Given the description of an element on the screen output the (x, y) to click on. 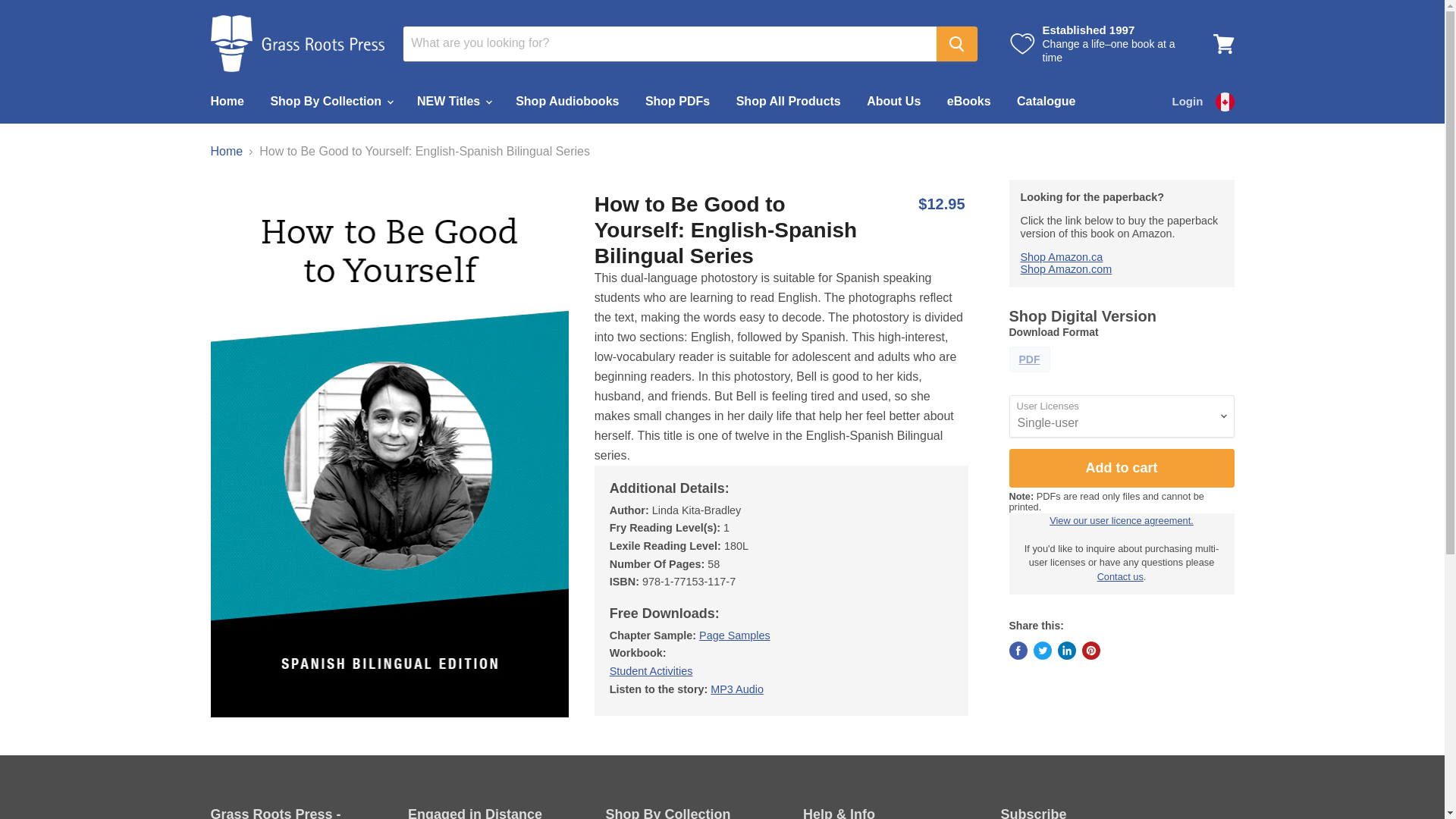
Shop By Collection (330, 101)
Home (226, 101)
View cart (1223, 42)
